Given the description of an element on the screen output the (x, y) to click on. 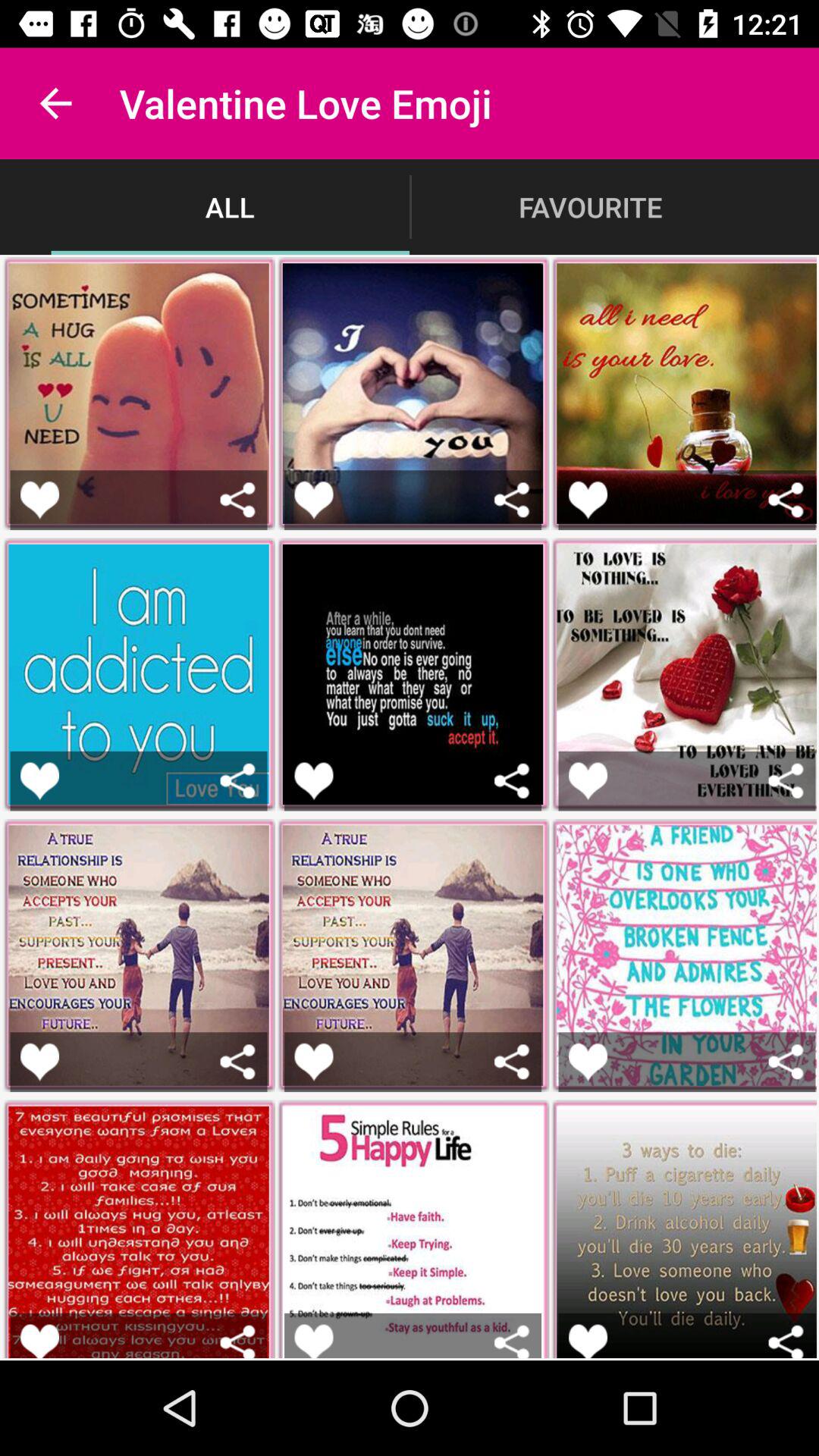
add to favorites (587, 1061)
